Given the description of an element on the screen output the (x, y) to click on. 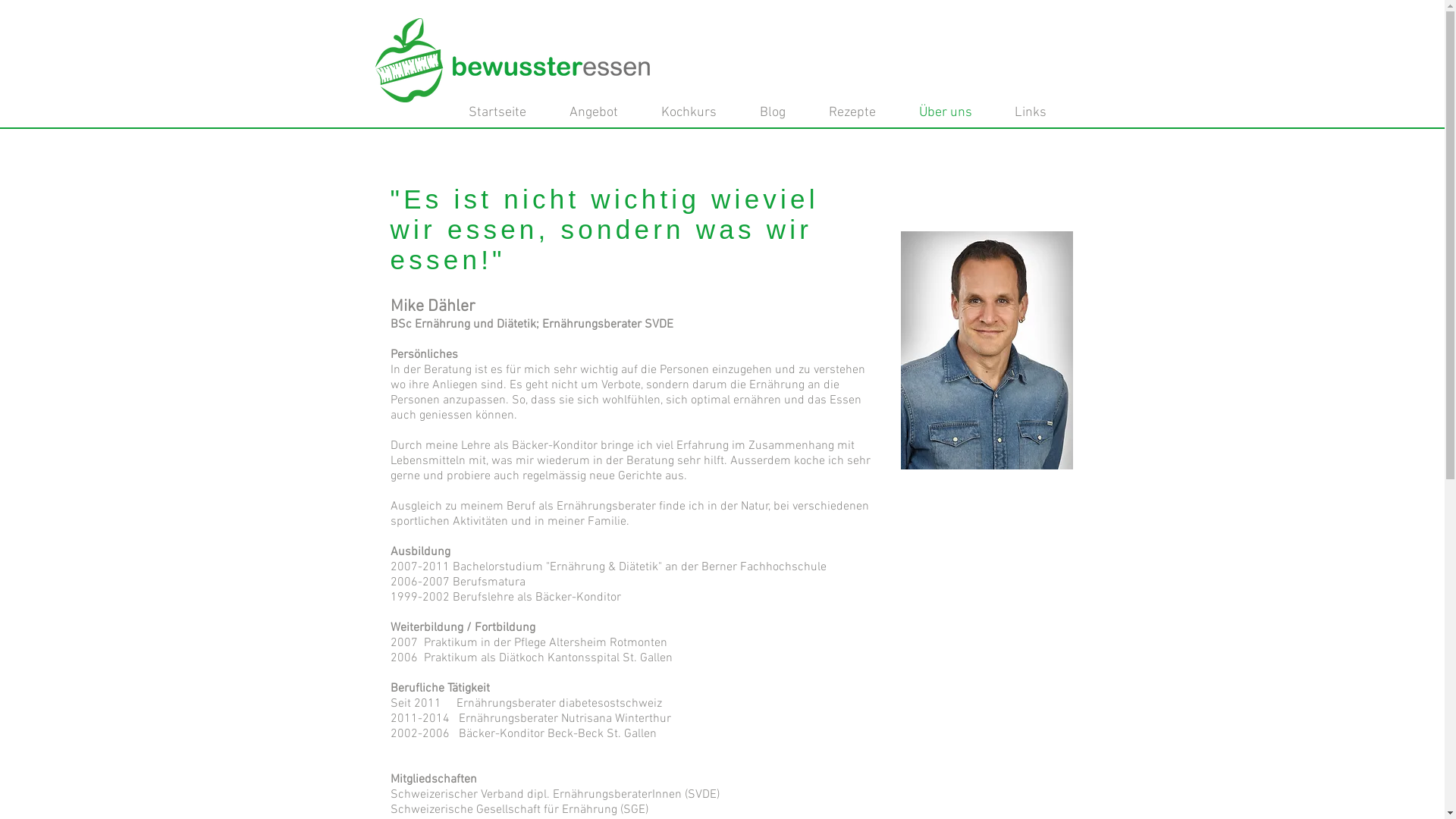
Links Element type: text (1036, 112)
Startseite Element type: text (503, 112)
Angebot Element type: text (599, 112)
Rezepte Element type: text (857, 112)
Blog Element type: text (778, 112)
Kochkurs Element type: text (695, 112)
